Given the description of an element on the screen output the (x, y) to click on. 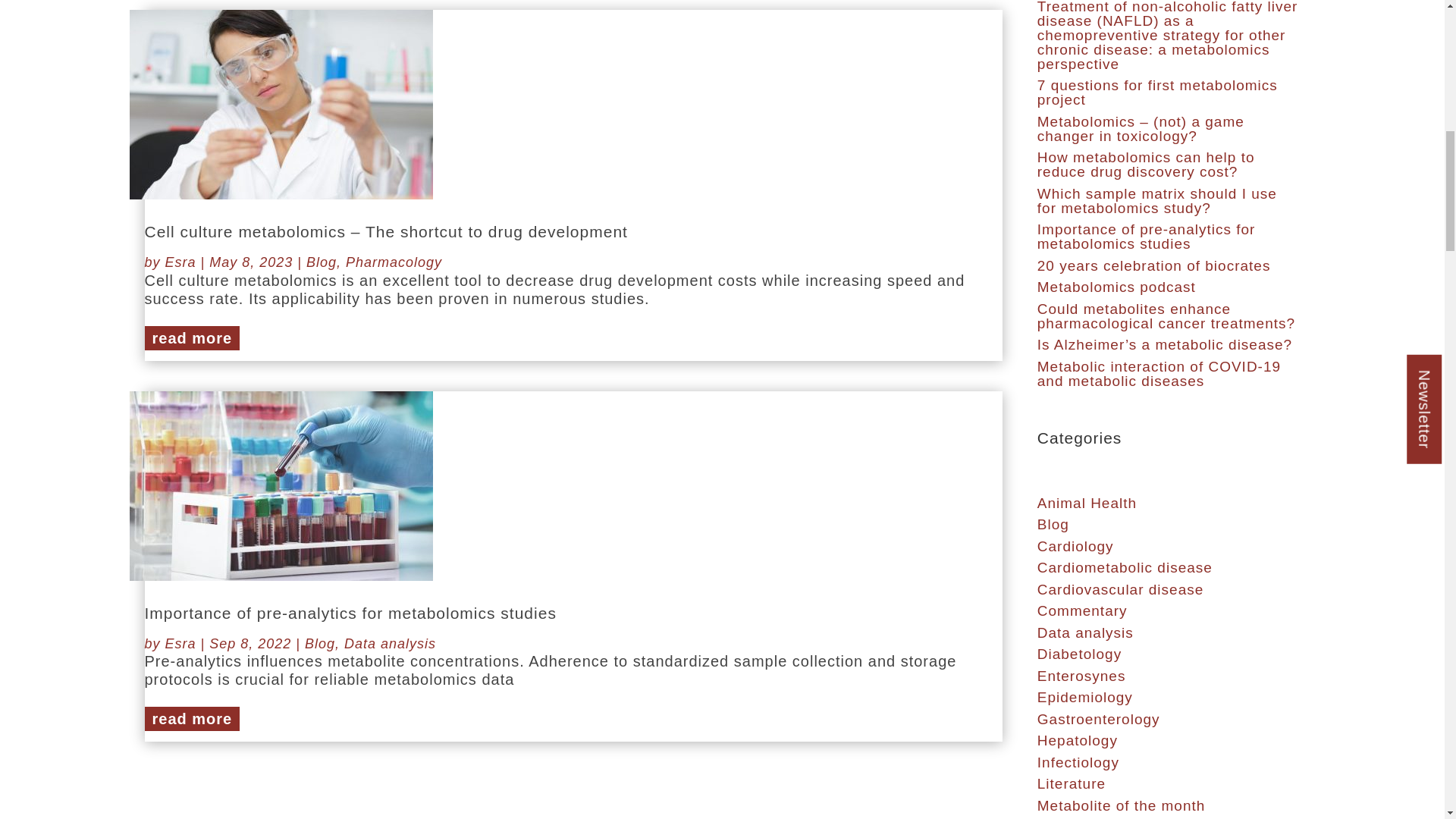
Posts by Esra (180, 643)
Posts by Esra (180, 262)
